Given the description of an element on the screen output the (x, y) to click on. 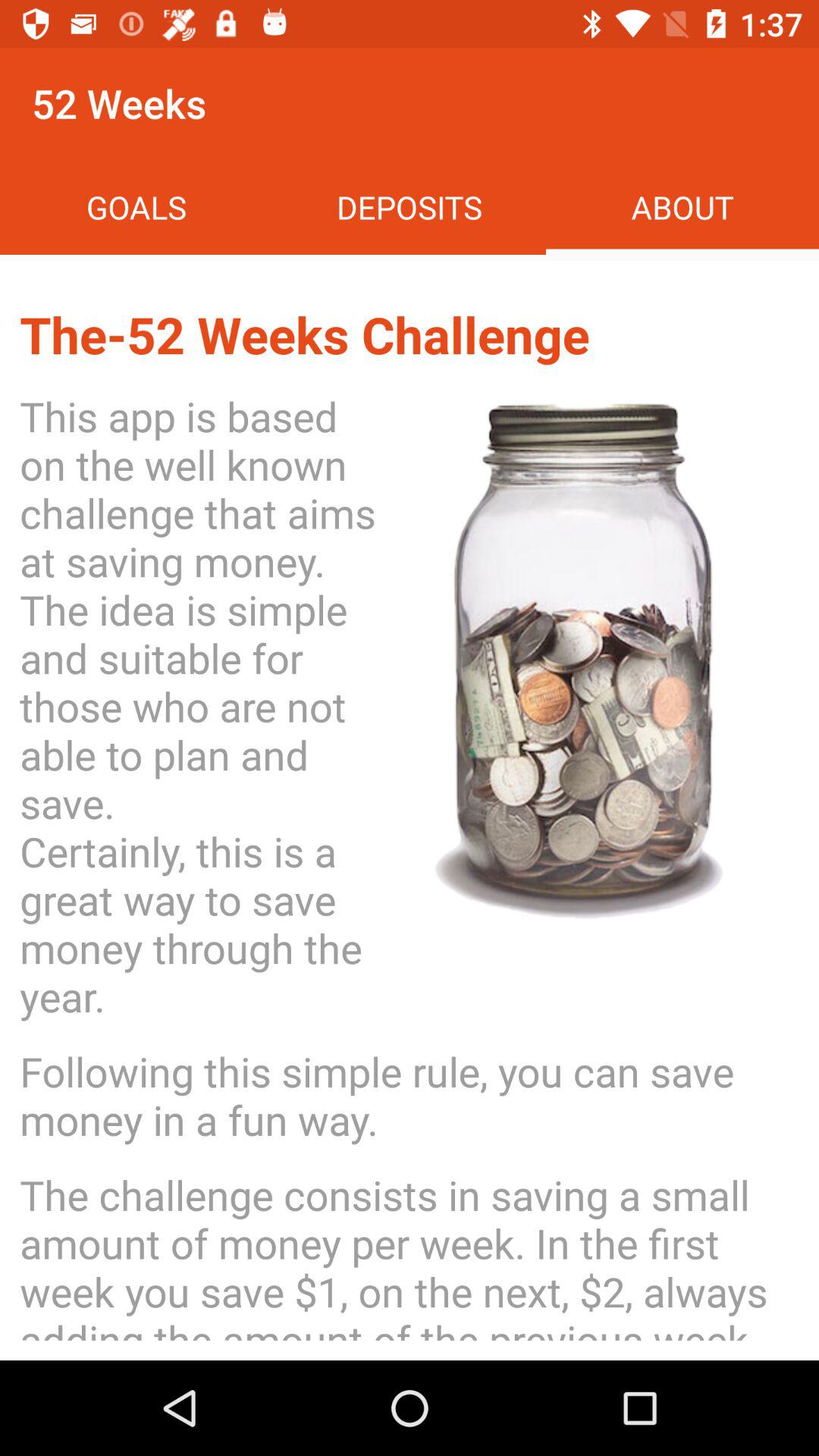
open icon to the left of about icon (409, 206)
